Given the description of an element on the screen output the (x, y) to click on. 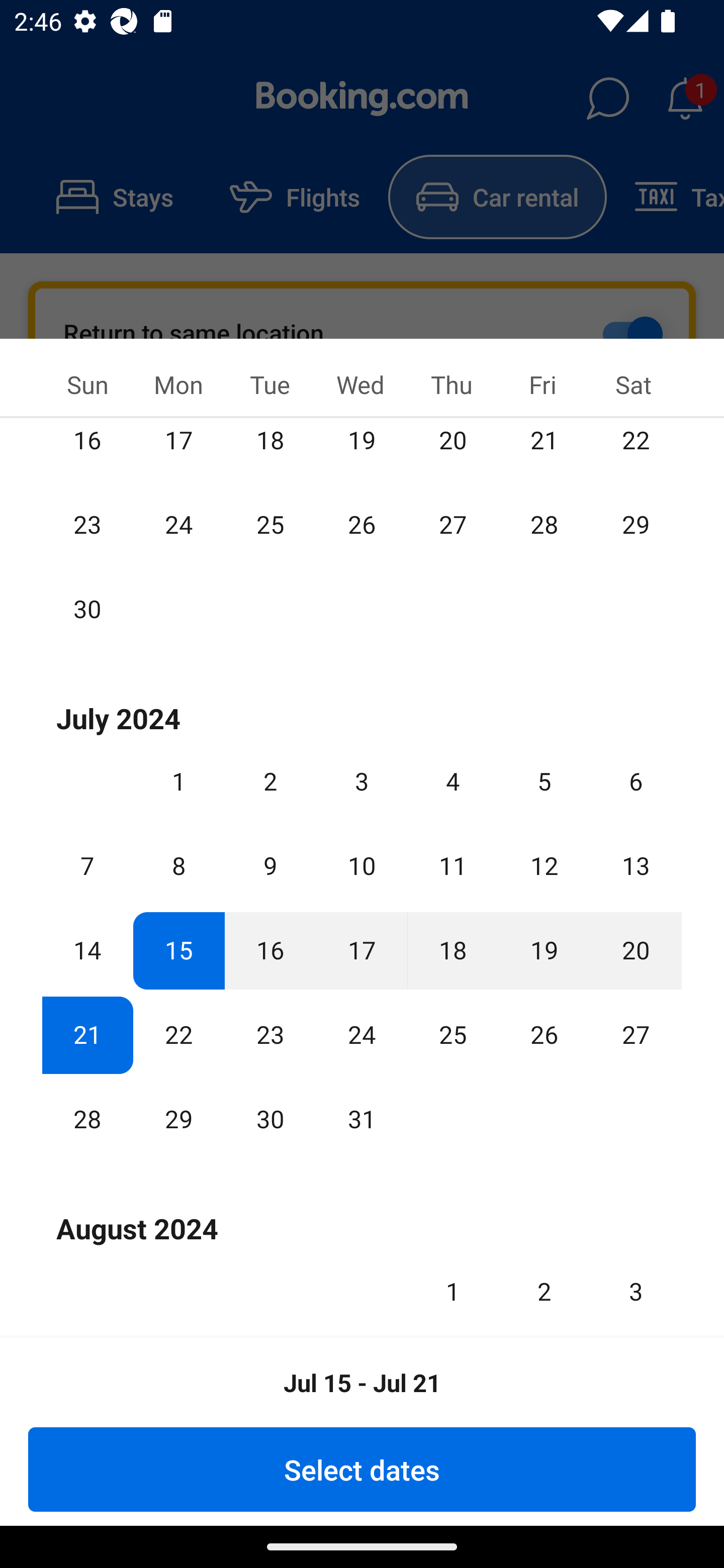
Select dates (361, 1468)
